Given the description of an element on the screen output the (x, y) to click on. 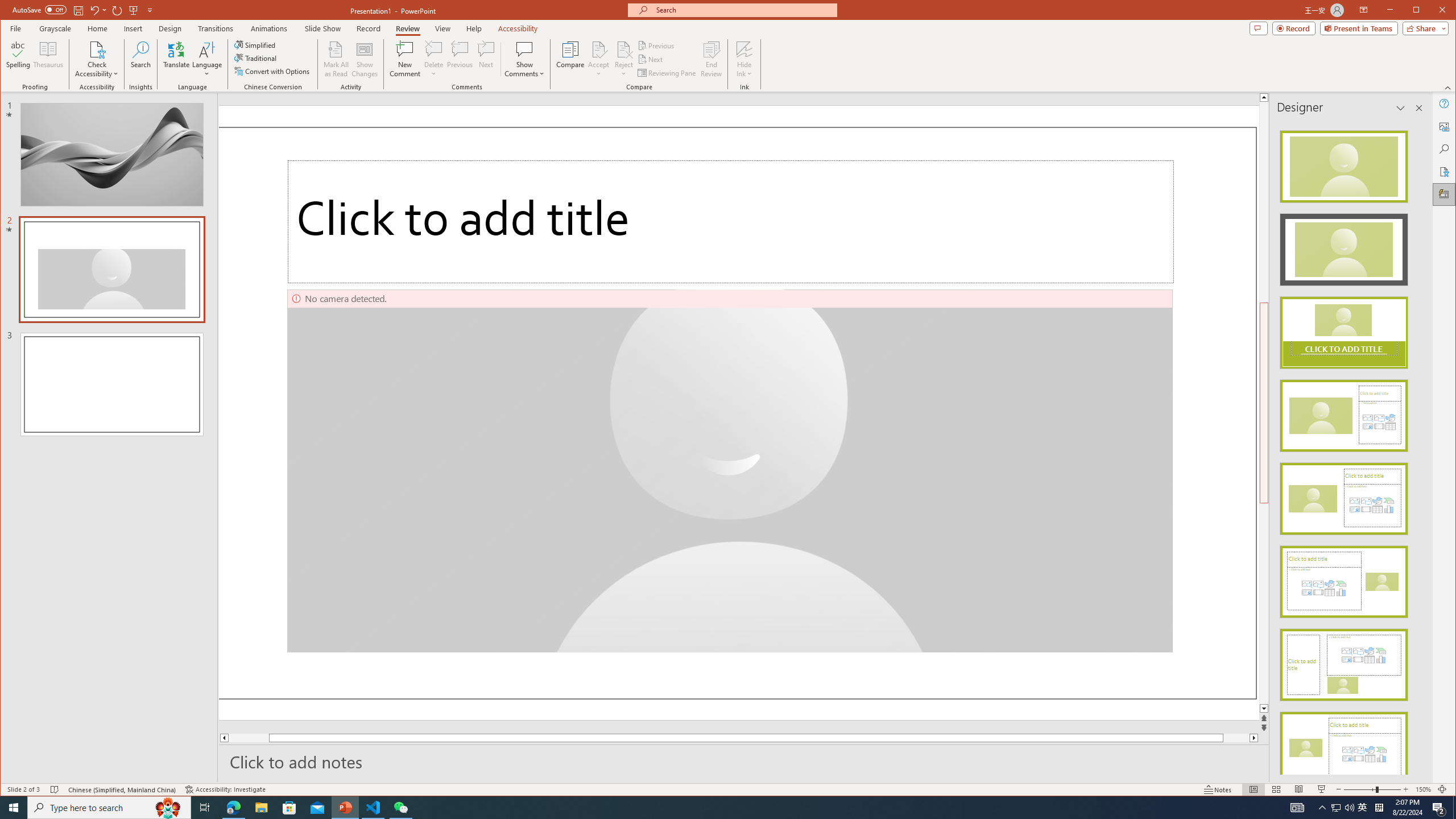
Accept Change (598, 48)
